Given the description of an element on the screen output the (x, y) to click on. 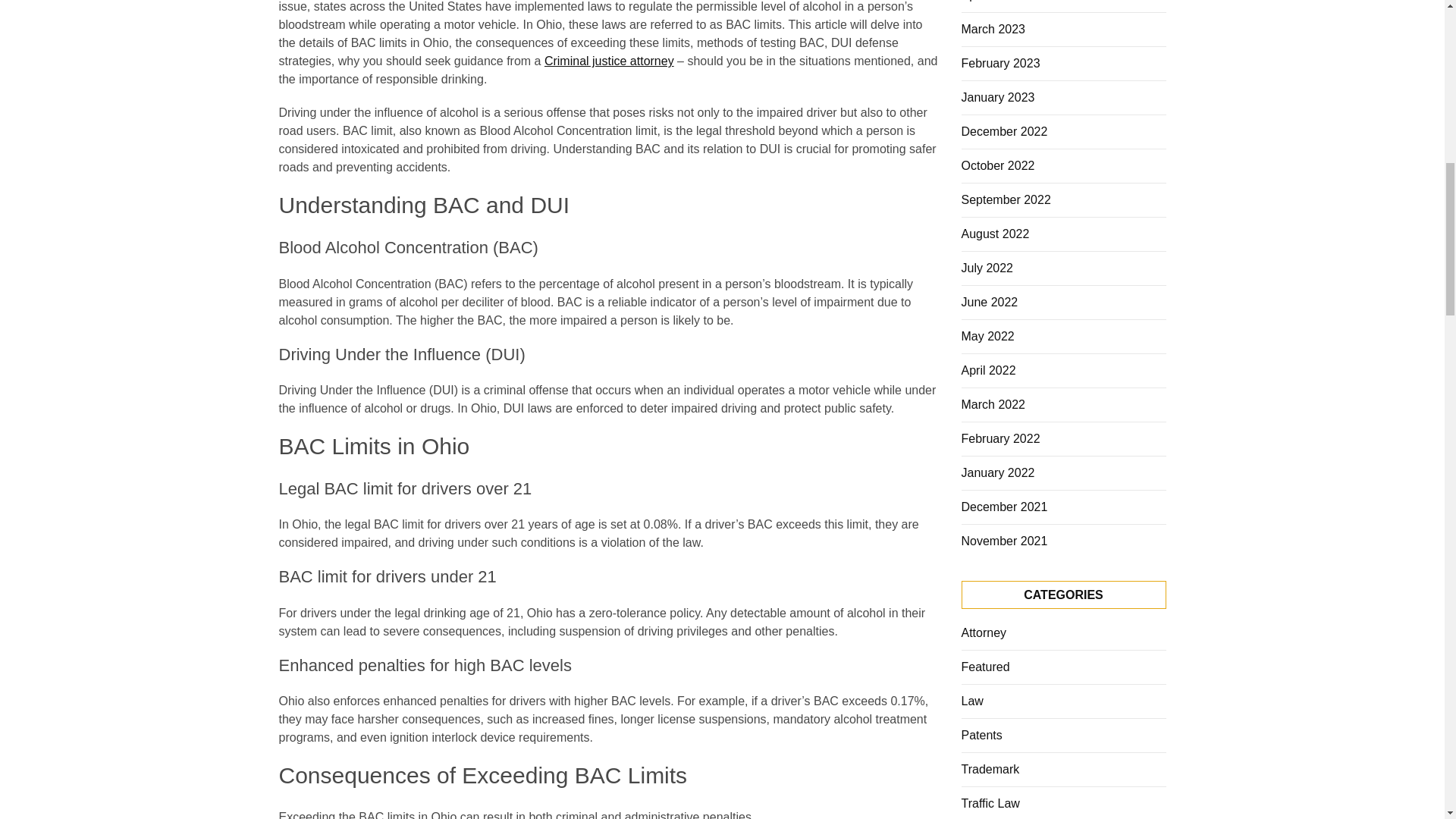
Criminal justice attorney (609, 60)
